Given the description of an element on the screen output the (x, y) to click on. 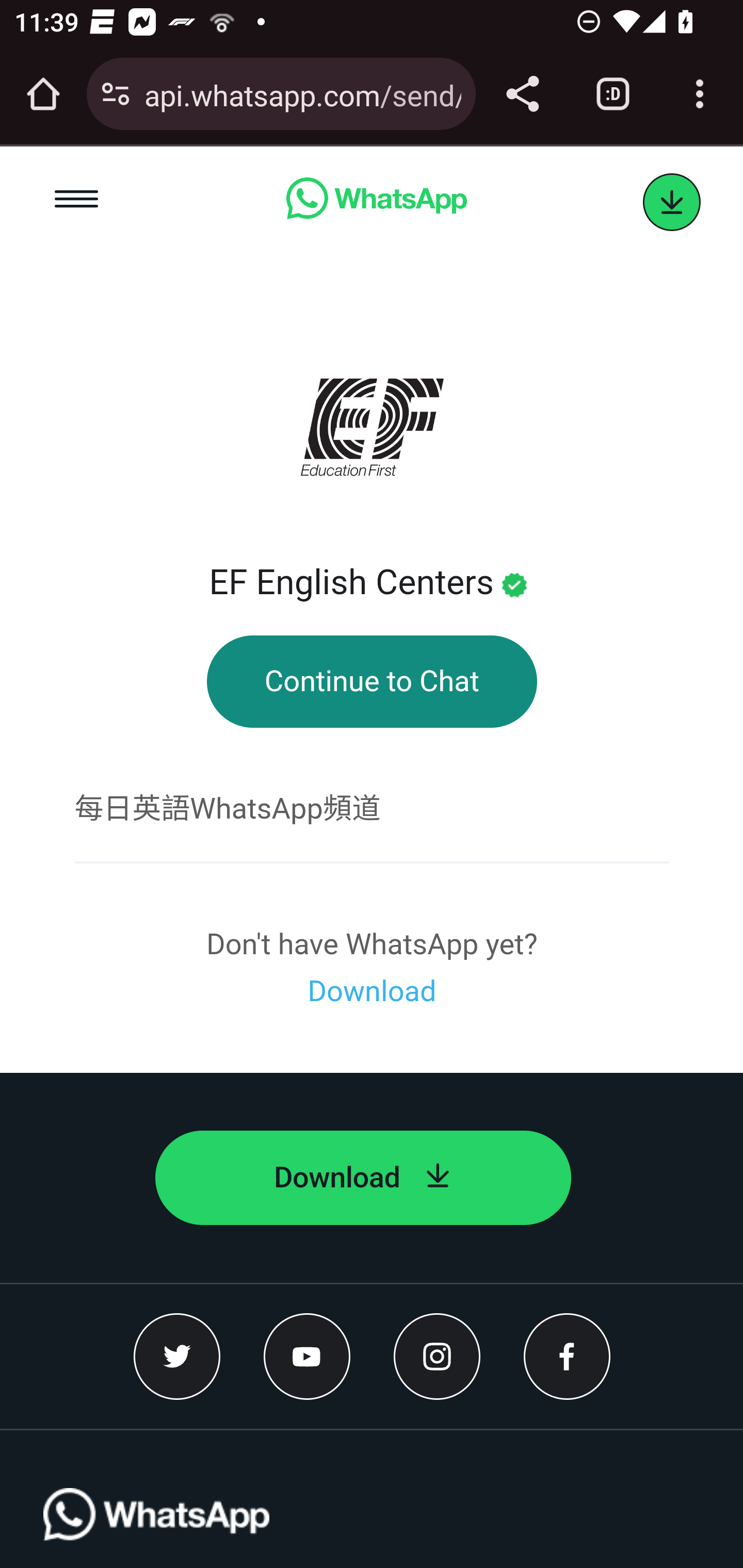
Open the home page (43, 93)
Connection is secure (115, 93)
Share (522, 93)
Switch or close tabs (612, 93)
Customize and control Google Chrome (699, 93)
Open mobile menu (77, 202)
details?id=com (672, 203)
WhatsApp Main Page (376, 202)
Continue to Chat (371, 682)
Download Download Download (371, 991)
Download (363, 1178)
Twitter (177, 1356)
Youtube (307, 1356)
Instagram (436, 1356)
Facebook (566, 1356)
WhatsApp Main Logo (157, 1528)
